Given the description of an element on the screen output the (x, y) to click on. 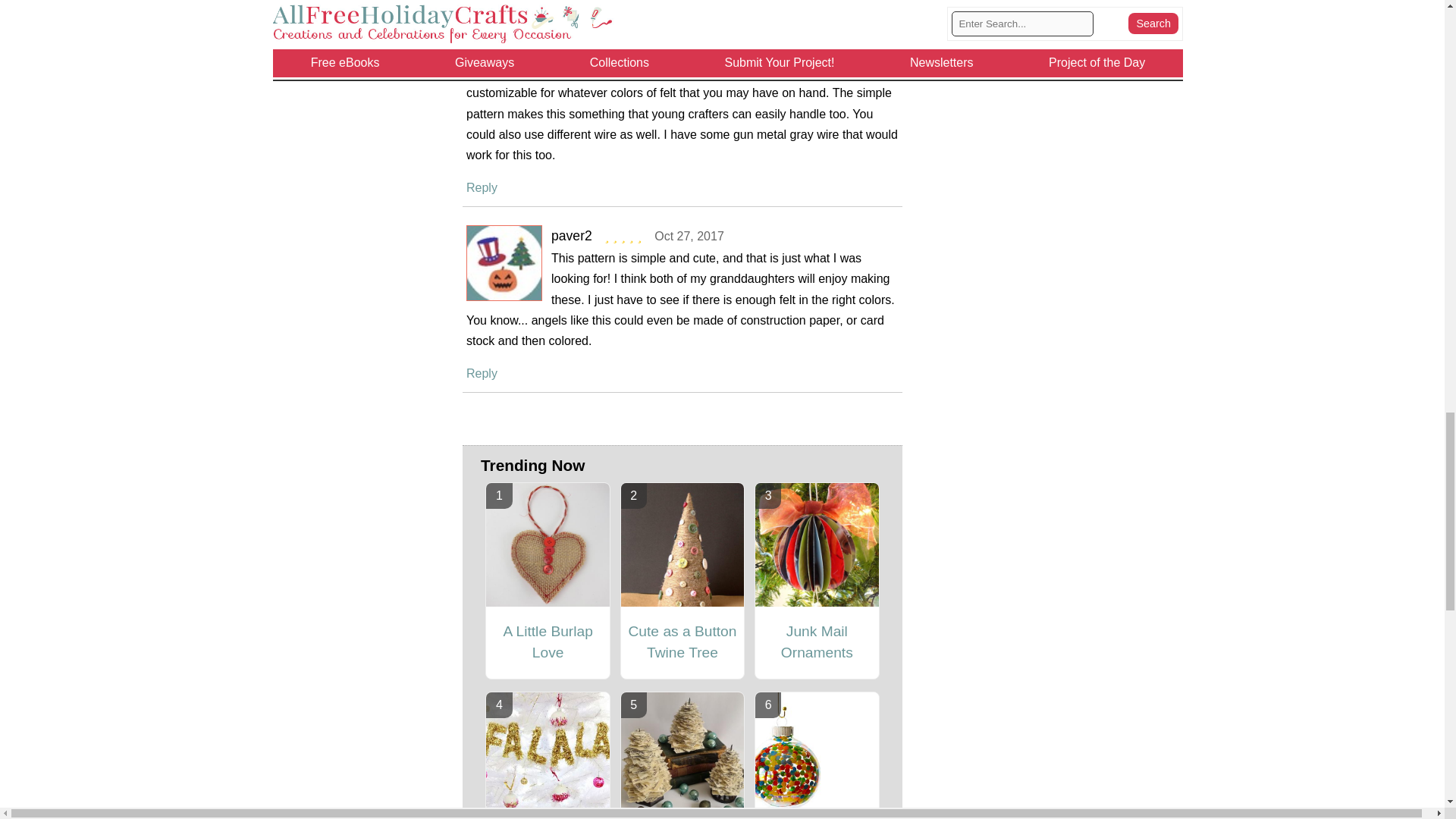
Submit (681, 0)
